Given the description of an element on the screen output the (x, y) to click on. 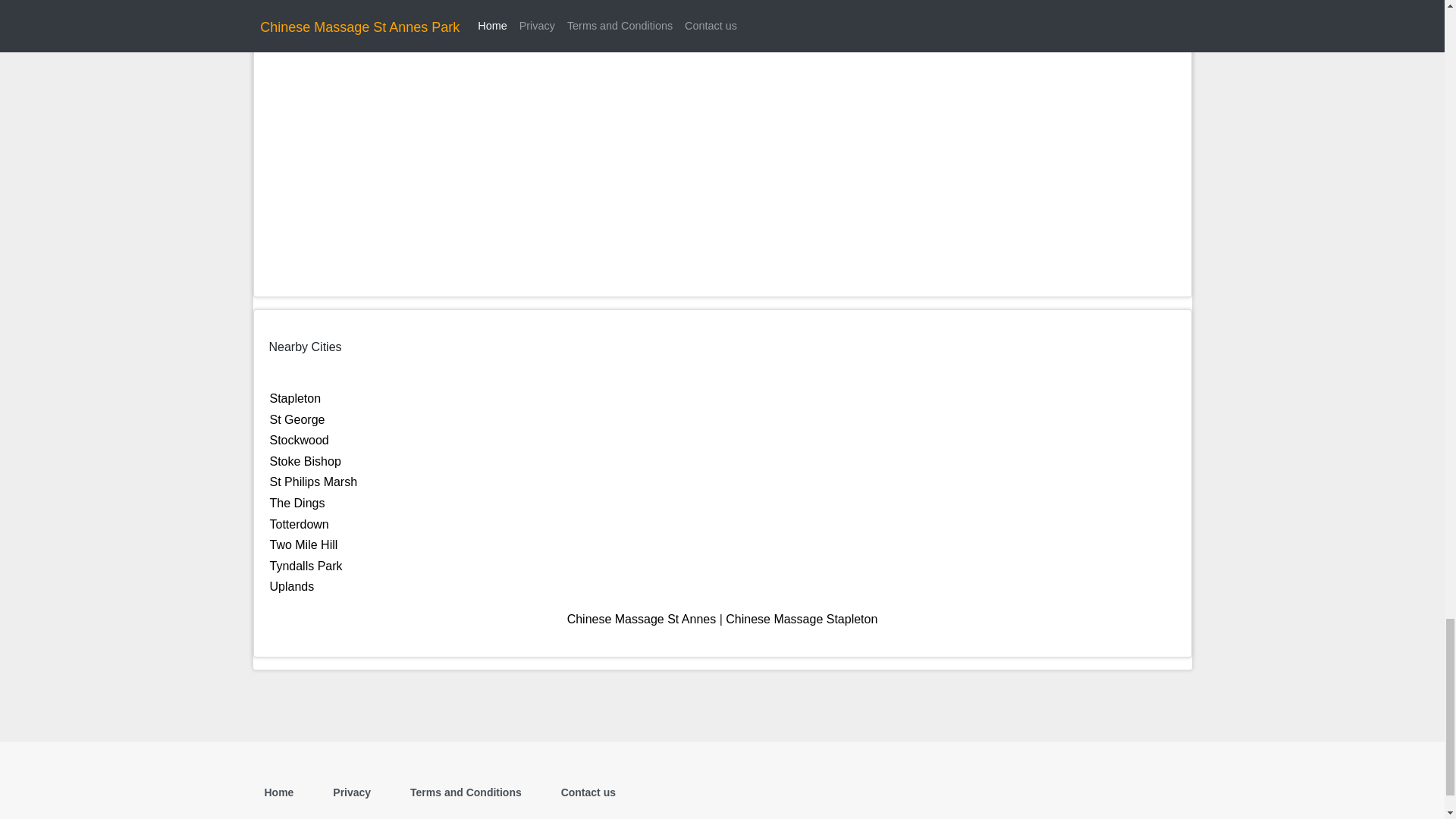
Uplands (291, 585)
St George (296, 419)
Chinese Massage St Annes (641, 618)
St Philips Marsh (313, 481)
Totterdown (299, 523)
Stoke Bishop (304, 461)
Two Mile Hill (303, 544)
Stapleton (295, 398)
Stockwood (299, 440)
The Dings (296, 502)
